Given the description of an element on the screen output the (x, y) to click on. 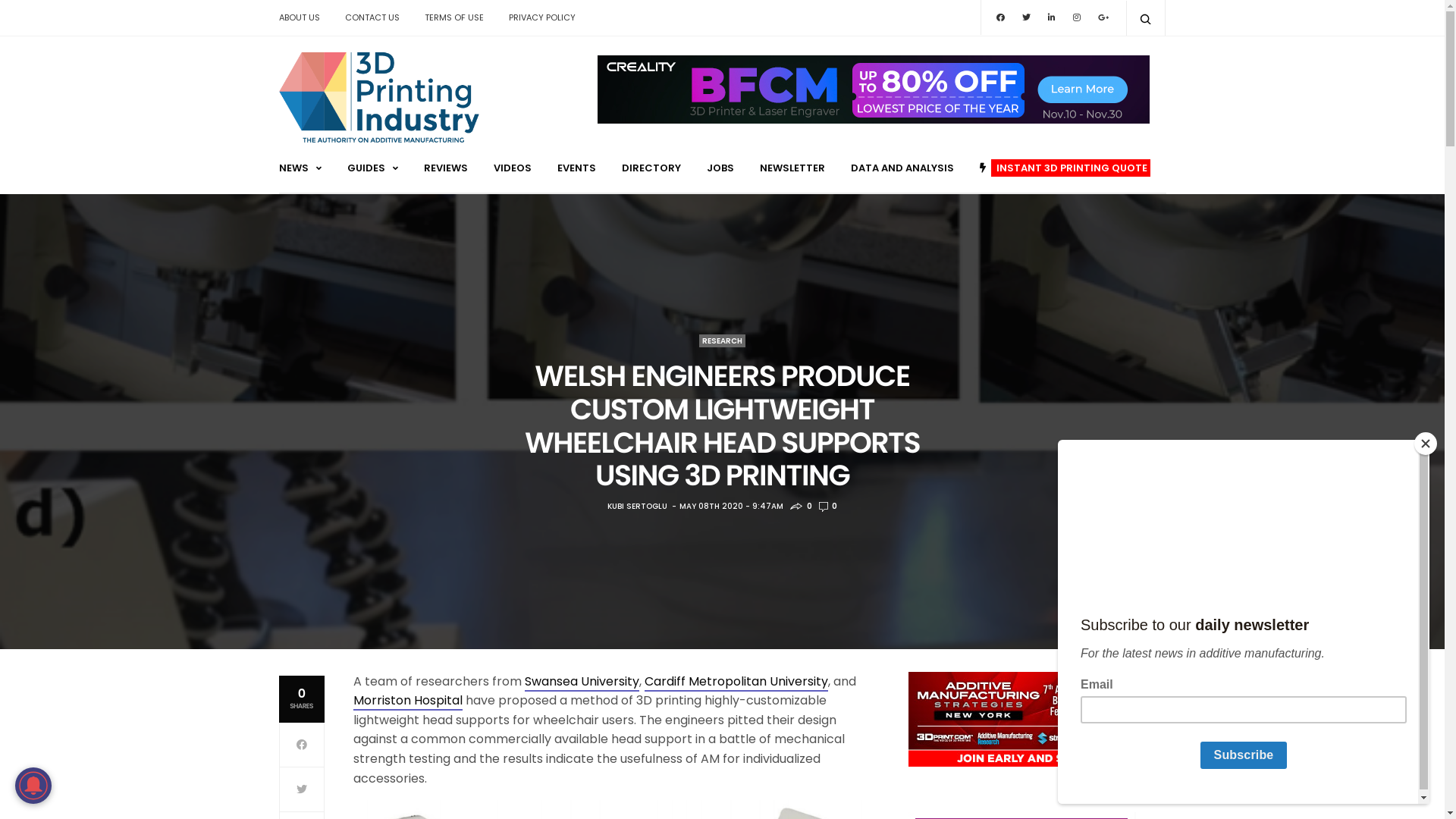
CONTACT US Element type: text (372, 17)
TERMS OF USE Element type: text (453, 17)
PRIVACY POLICY Element type: text (541, 17)
DATA AND ANALYSIS Element type: text (901, 167)
JOBS Element type: text (720, 167)
INSTANT 3D PRINTING QUOTE Element type: text (1064, 167)
Cardiff Metropolitan University Element type: text (736, 681)
NEWS Element type: text (300, 167)
RESEARCH Element type: text (722, 340)
DIRECTORY Element type: text (650, 167)
GUIDES Element type: text (372, 167)
0 Element type: text (828, 505)
REVIEWS Element type: text (445, 167)
Search Element type: text (16, 16)
VIDEOS Element type: text (511, 167)
NEWSLETTER Element type: text (792, 167)
ABOUT US Element type: text (305, 17)
EVENTS Element type: text (575, 167)
Swansea University Element type: text (581, 681)
KUBI SERTOGLU Element type: text (637, 505)
Morriston Hospital Element type: text (407, 700)
